Given the description of an element on the screen output the (x, y) to click on. 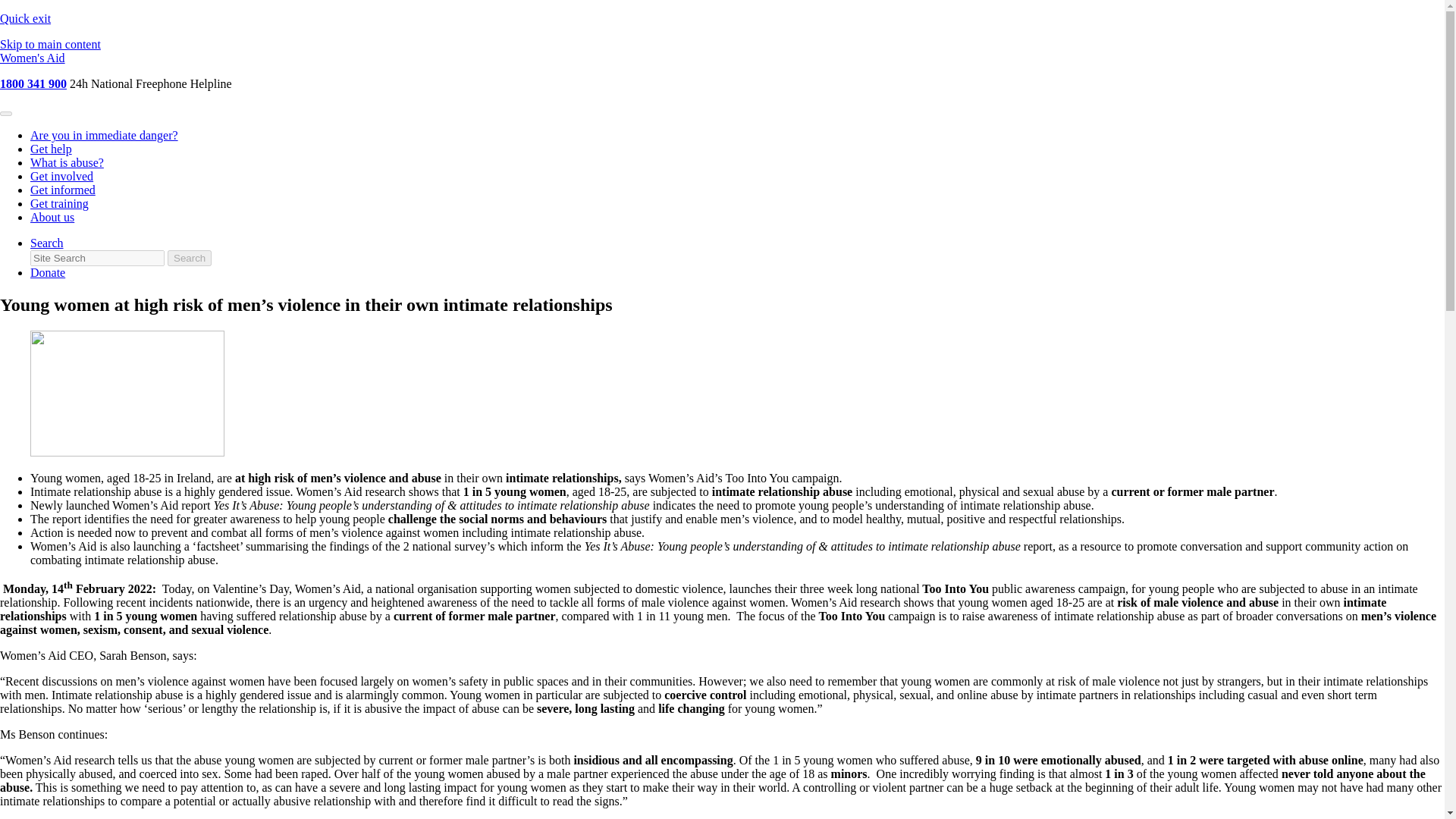
Are you in immediate danger? (103, 134)
Search (47, 242)
Get informed (63, 189)
Search (189, 258)
Donate (47, 272)
1800 341 900 (33, 83)
Quick exit (25, 18)
Women's Aid (32, 57)
Skip to main content (50, 43)
Get help (50, 148)
Get involved (61, 175)
What is abuse? (66, 162)
Get training (59, 203)
About us (52, 216)
